Given the description of an element on the screen output the (x, y) to click on. 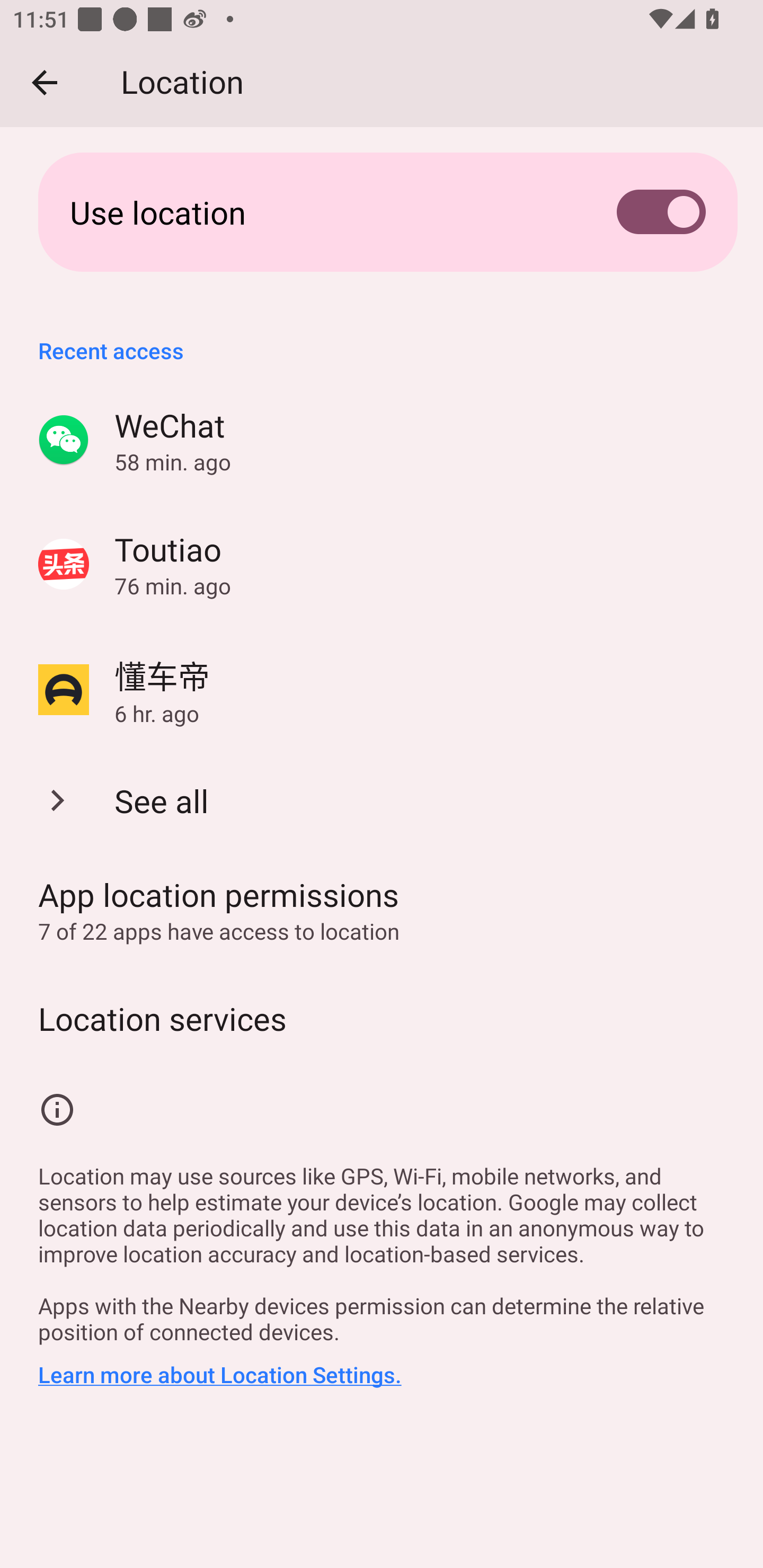
Navigate up (44, 82)
Use location (381, 212)
WeChat 58 min. ago (381, 439)
Toutiao 76 min. ago (381, 563)
懂车帝 6 hr. ago (381, 689)
See all (381, 801)
Location services (381, 1018)
